Given the description of an element on the screen output the (x, y) to click on. 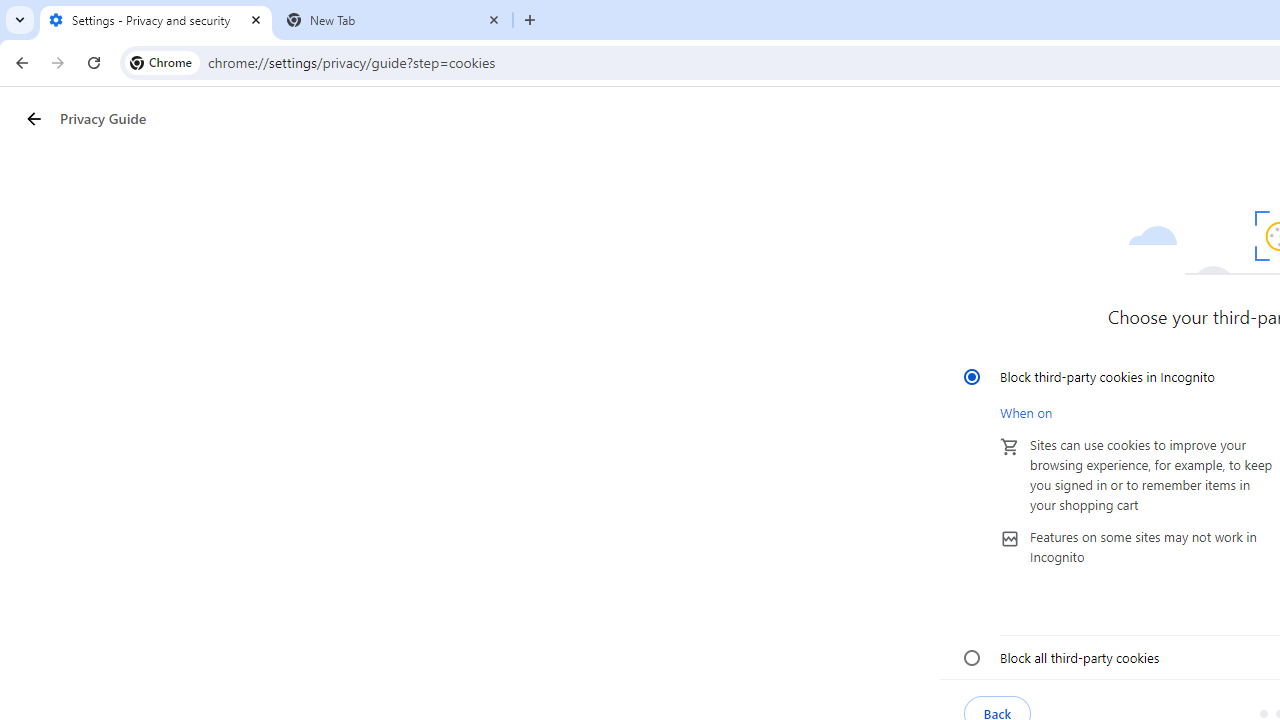
New Tab (394, 20)
Settings - Privacy and security (156, 20)
Block all third-party cookies (971, 657)
Privacy Guide back button (33, 118)
Block third-party cookies in Incognito (971, 376)
